Given the description of an element on the screen output the (x, y) to click on. 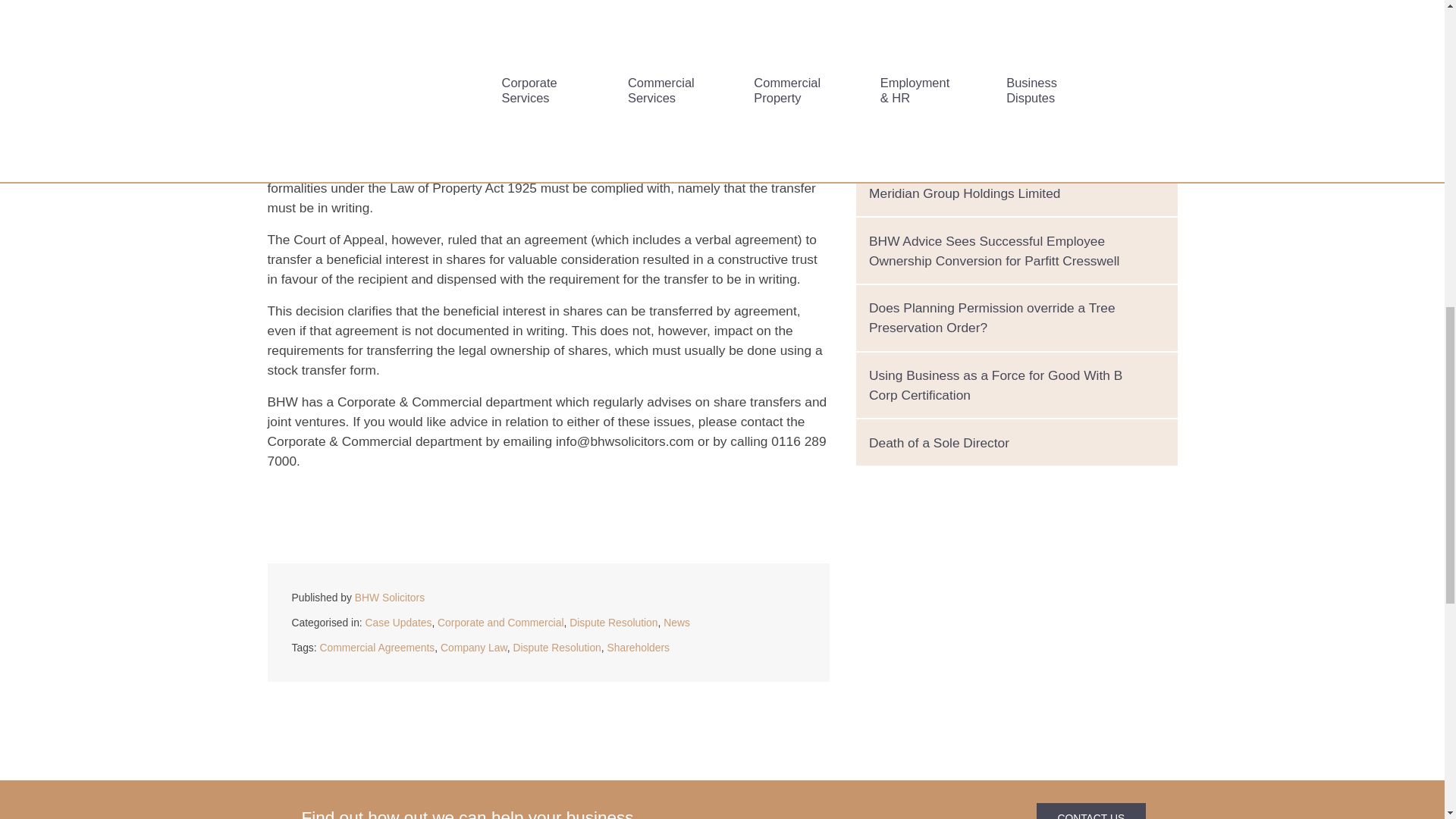
Posts by BHW Solicitors (390, 597)
